Given the description of an element on the screen output the (x, y) to click on. 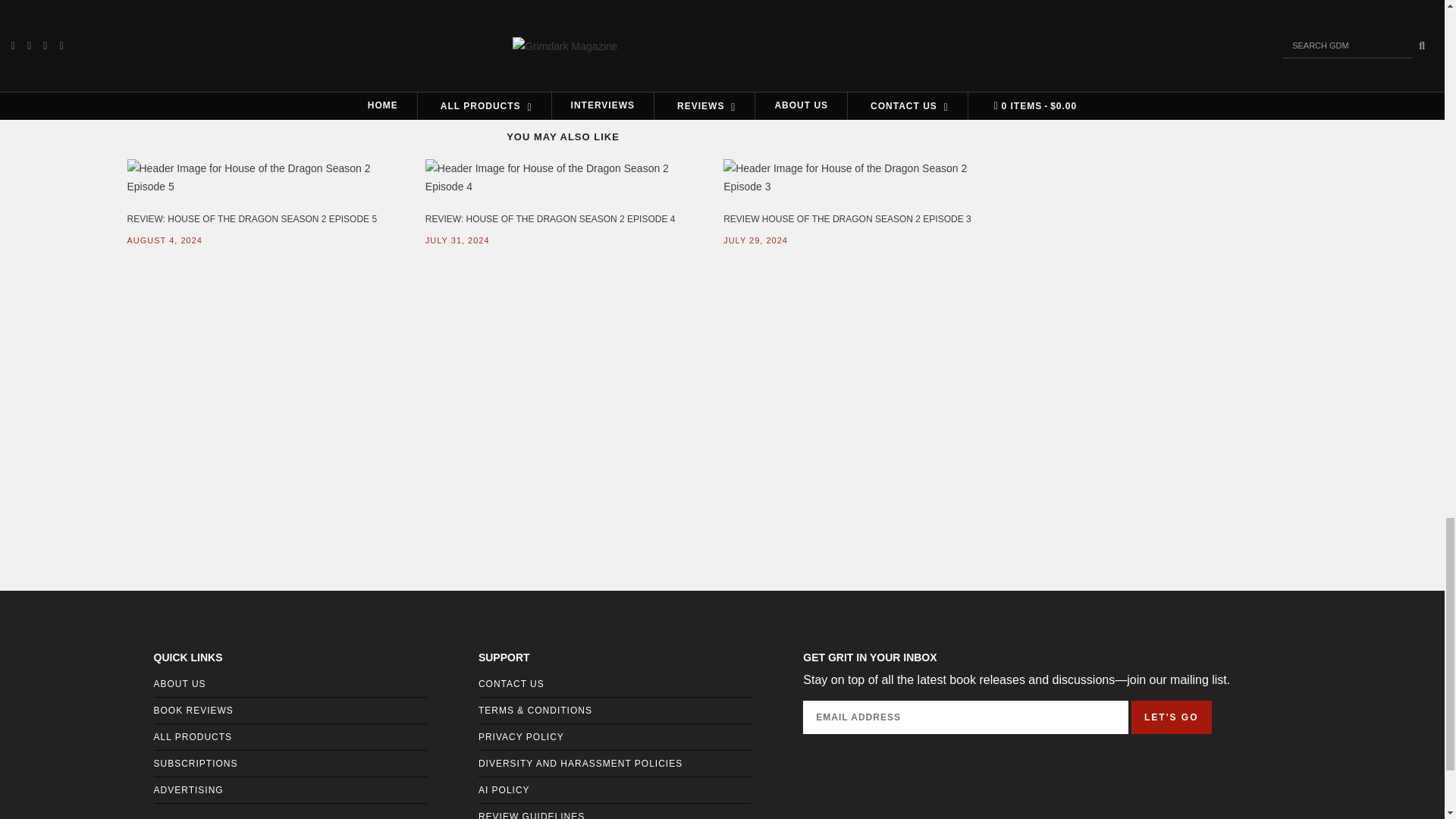
Let's Go (1171, 717)
Sign up (1232, 50)
